Given the description of an element on the screen output the (x, y) to click on. 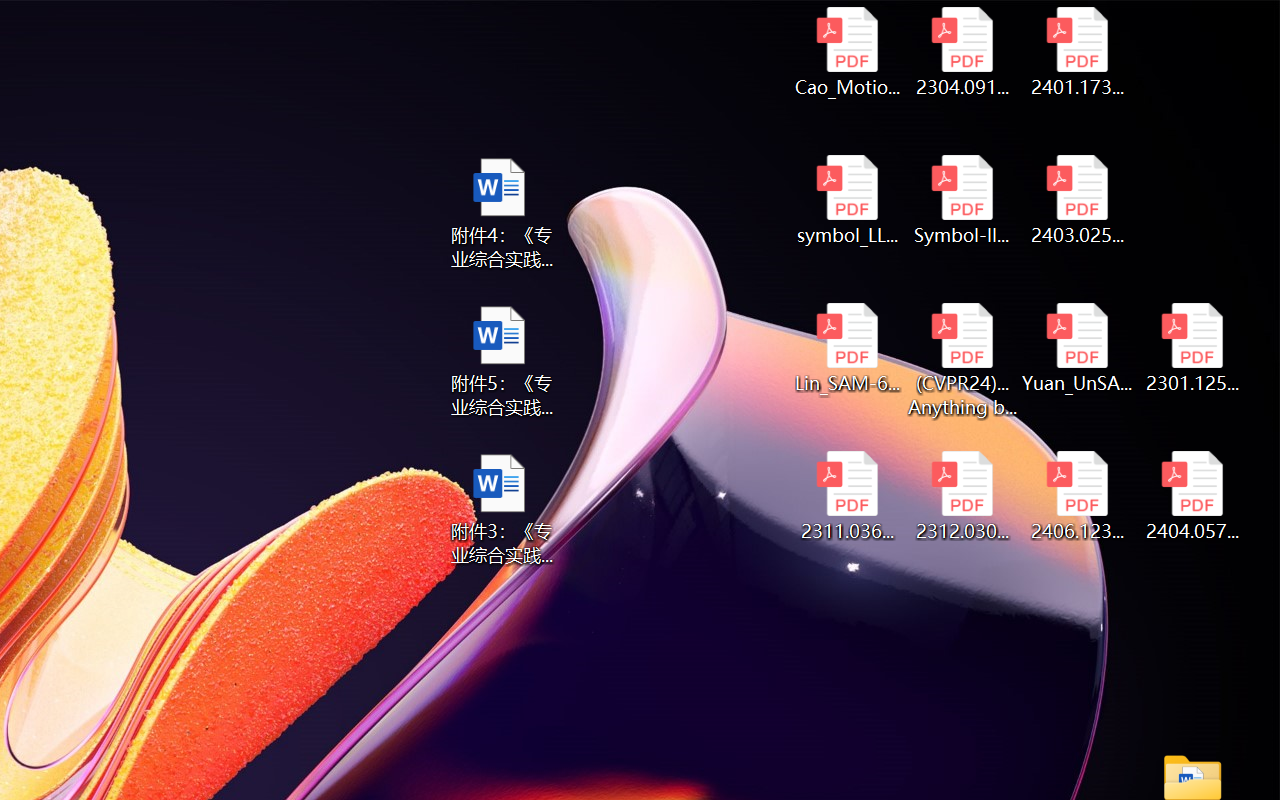
2404.05719v1.pdf (1192, 496)
2406.12373v2.pdf (1077, 496)
(CVPR24)Matching Anything by Segmenting Anything.pdf (962, 360)
2304.09121v3.pdf (962, 52)
2301.12597v3.pdf (1192, 348)
Symbol-llm-v2.pdf (962, 200)
symbol_LLM.pdf (846, 200)
2311.03658v2.pdf (846, 496)
2403.02502v1.pdf (1077, 200)
2312.03032v2.pdf (962, 496)
